Given the description of an element on the screen output the (x, y) to click on. 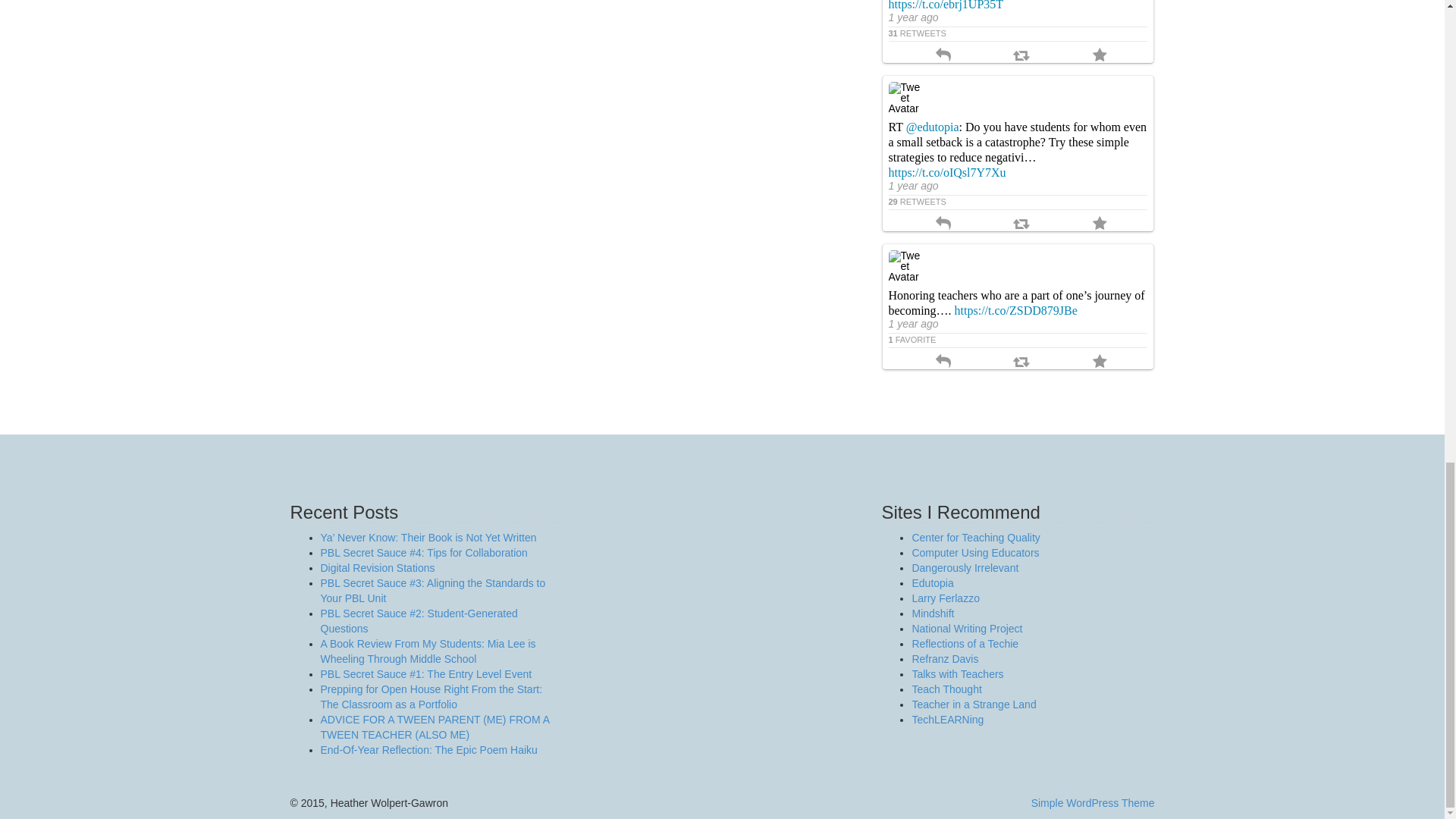
Reply (943, 56)
View Tweet on Twitter (1018, 201)
Favorite (1099, 56)
View Tweet on Twitter (1018, 32)
Retweet (1021, 56)
